Given the description of an element on the screen output the (x, y) to click on. 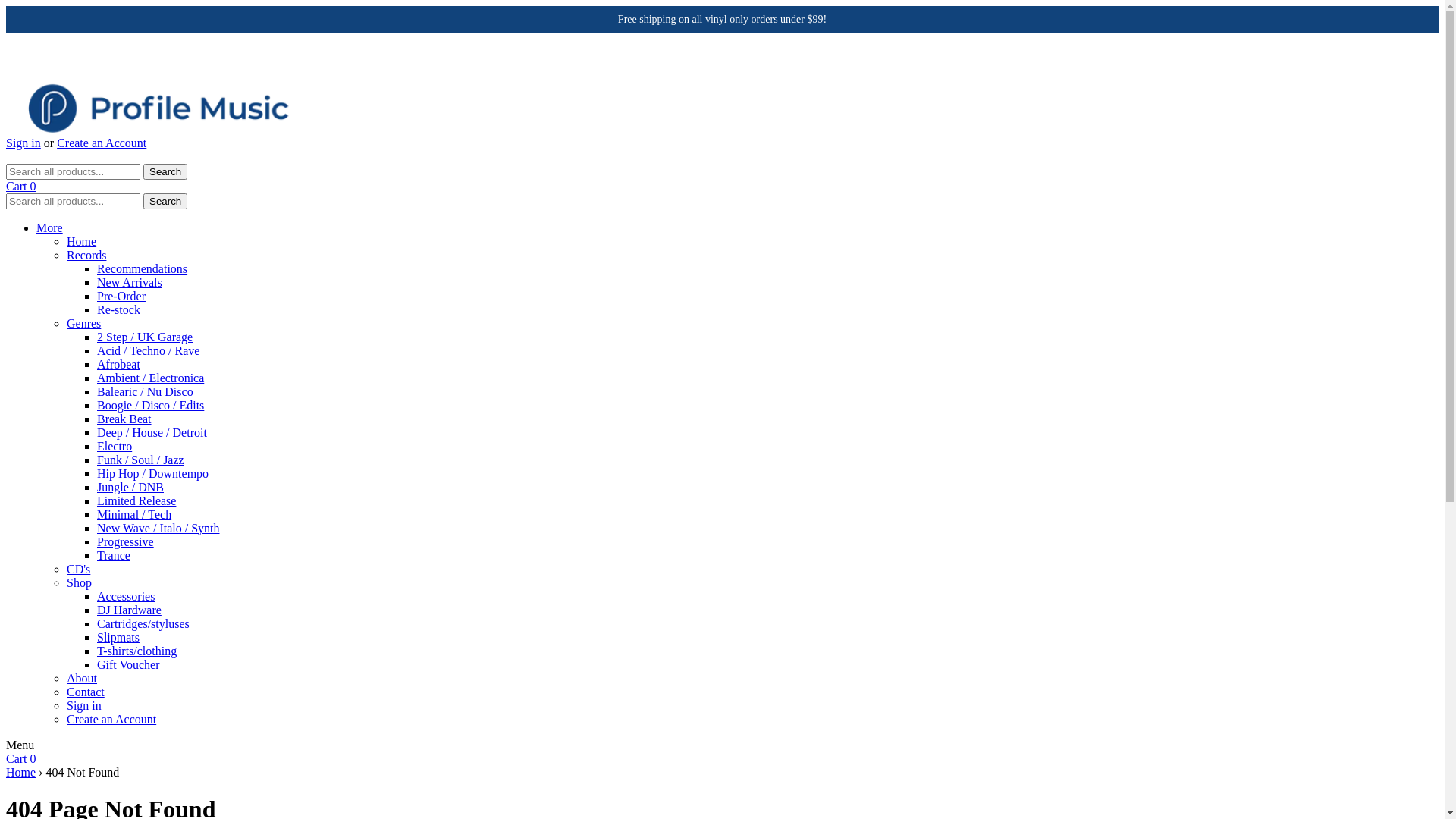
Boogie / Disco / Edits Element type: text (150, 404)
Gift Voucher Element type: text (128, 664)
Afrobeat Element type: text (118, 363)
Ambient / Electronica Element type: text (150, 377)
Progressive Element type: text (125, 541)
2 Step / UK Garage Element type: text (144, 336)
Trance Element type: text (113, 555)
Sign in Element type: text (83, 705)
New Wave / Italo / Synth Element type: text (158, 527)
DJ Hardware Element type: text (129, 609)
Search Element type: text (165, 201)
Hip Hop / Downtempo Element type: text (152, 473)
Accessories Element type: text (125, 595)
Search Element type: text (165, 171)
Balearic / Nu Disco Element type: text (145, 391)
Home Element type: text (81, 241)
New Arrivals Element type: text (129, 282)
More Element type: text (49, 227)
About Element type: text (81, 677)
Cartridges/styluses Element type: text (143, 623)
Acid / Techno / Rave Element type: text (148, 350)
Shop Element type: text (78, 582)
Re-stock Element type: text (118, 309)
Sign in Element type: text (23, 142)
CD's Element type: text (78, 568)
Records Element type: text (86, 254)
Create an Account Element type: text (111, 718)
Menu Element type: text (20, 744)
Home Element type: text (20, 771)
Limited Release Element type: text (136, 500)
Create an Account Element type: text (101, 142)
Electro Element type: text (114, 445)
Jungle / DNB Element type: text (130, 486)
Minimal / Tech Element type: text (134, 514)
Recommendations Element type: text (142, 268)
Cart 0 Element type: text (21, 758)
T-shirts/clothing Element type: text (136, 650)
Funk / Soul / Jazz Element type: text (140, 459)
Pre-Order Element type: text (121, 295)
Genres Element type: text (83, 322)
Deep / House / Detroit Element type: text (152, 432)
Contact Element type: text (85, 691)
Slipmats Element type: text (118, 636)
Cart 0 Element type: text (21, 185)
Break Beat Element type: text (124, 418)
